Given the description of an element on the screen output the (x, y) to click on. 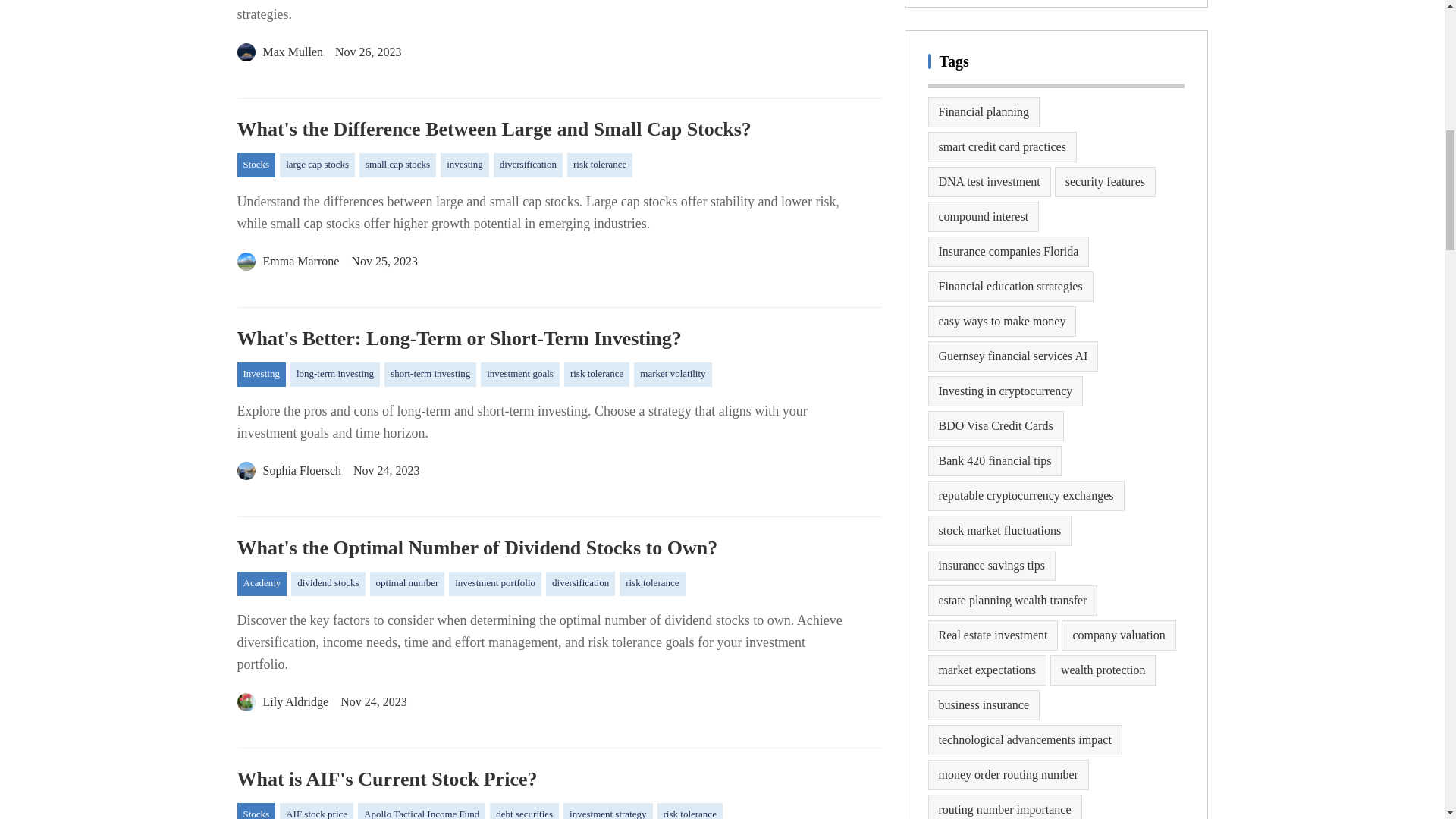
Max Mullen (279, 52)
Stocks (255, 165)
What's the Difference Between Large and Small Cap Stocks? (557, 128)
small cap stocks (397, 165)
large cap stocks (317, 165)
